Given the description of an element on the screen output the (x, y) to click on. 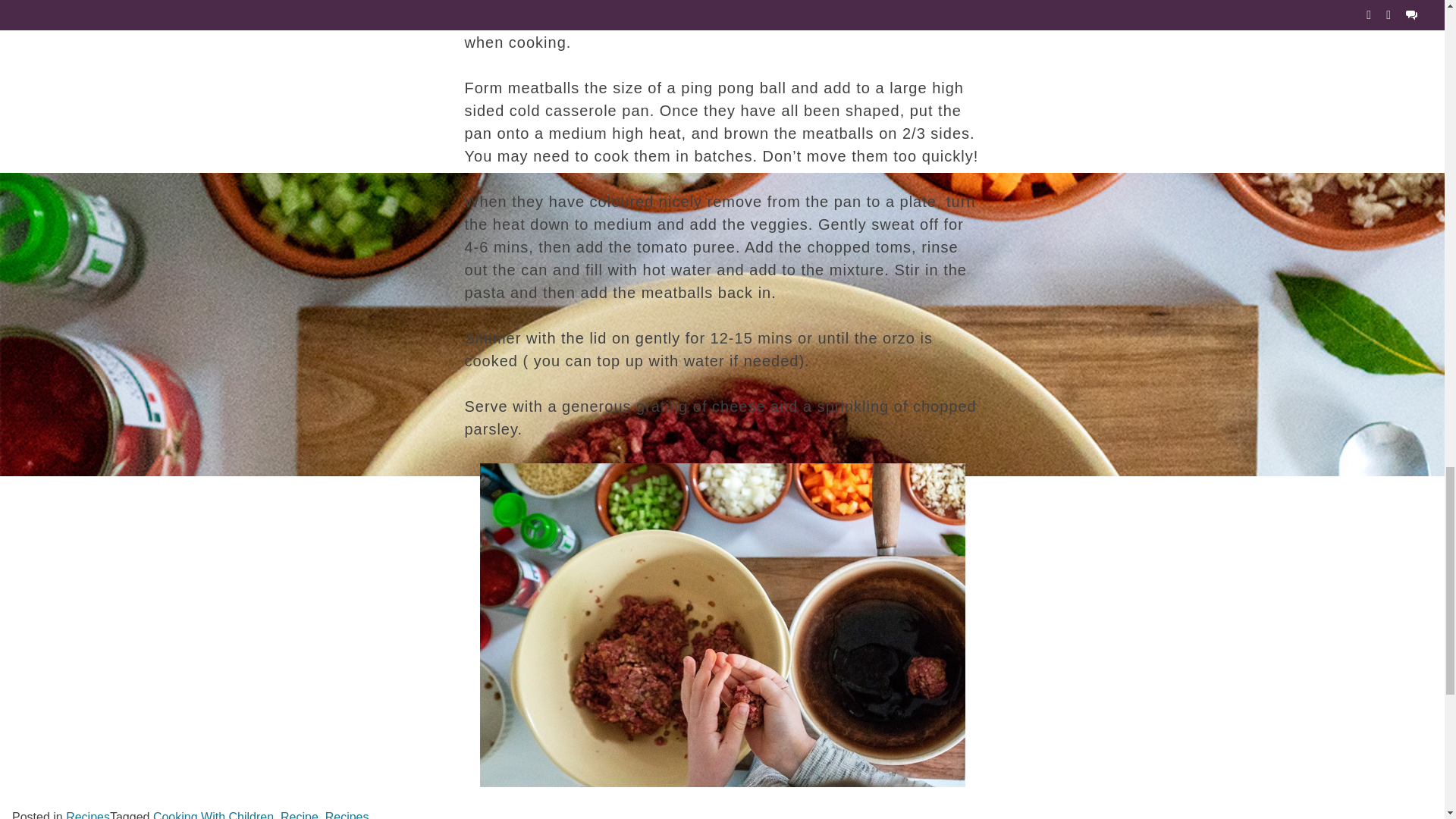
Recipe (299, 814)
Recipes (87, 814)
Cooking With Children (212, 814)
Recipes (346, 814)
